Given the description of an element on the screen output the (x, y) to click on. 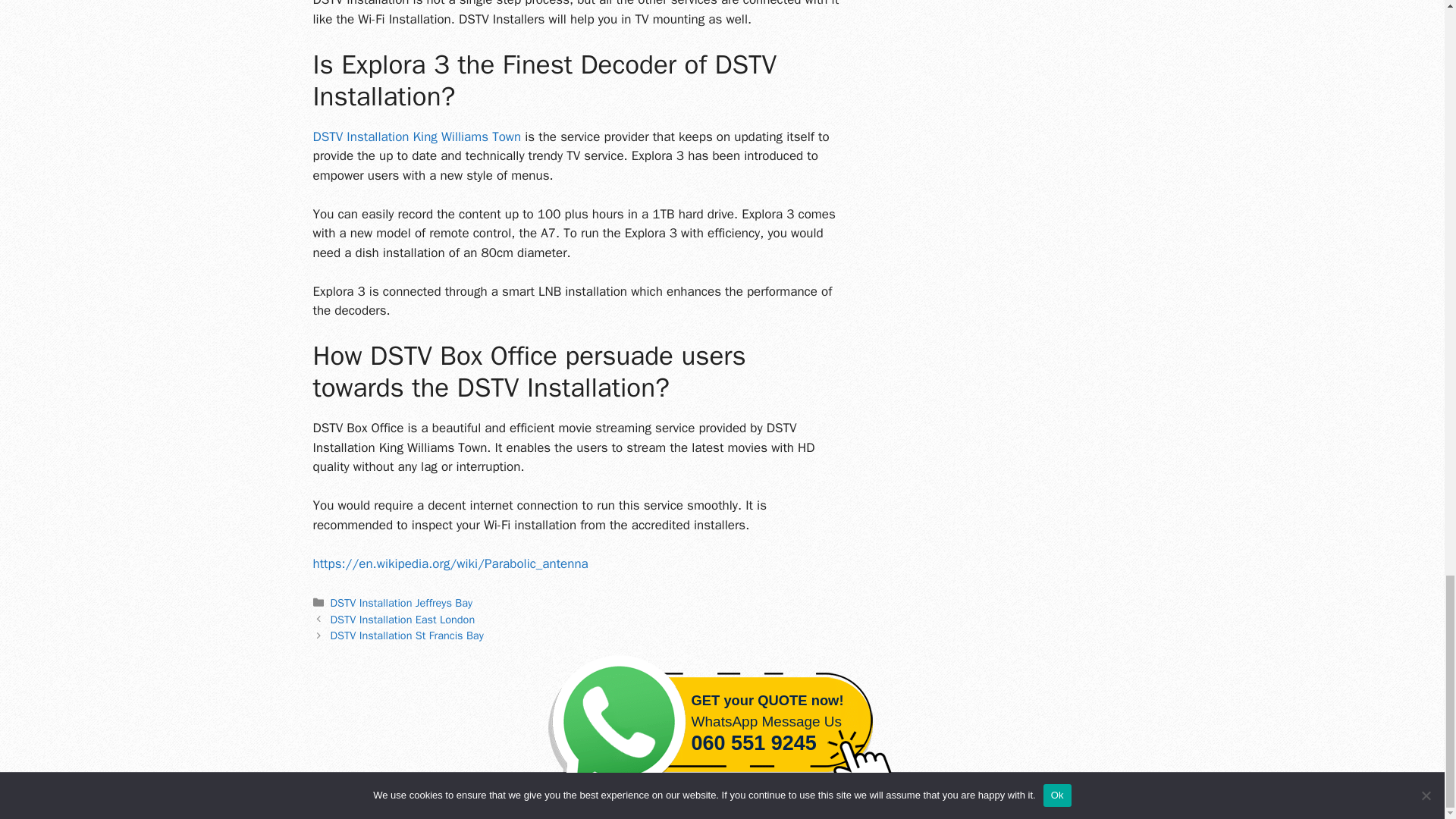
Next (406, 635)
Previous (403, 619)
DSTV Installation King Williams Town (417, 136)
